Given the description of an element on the screen output the (x, y) to click on. 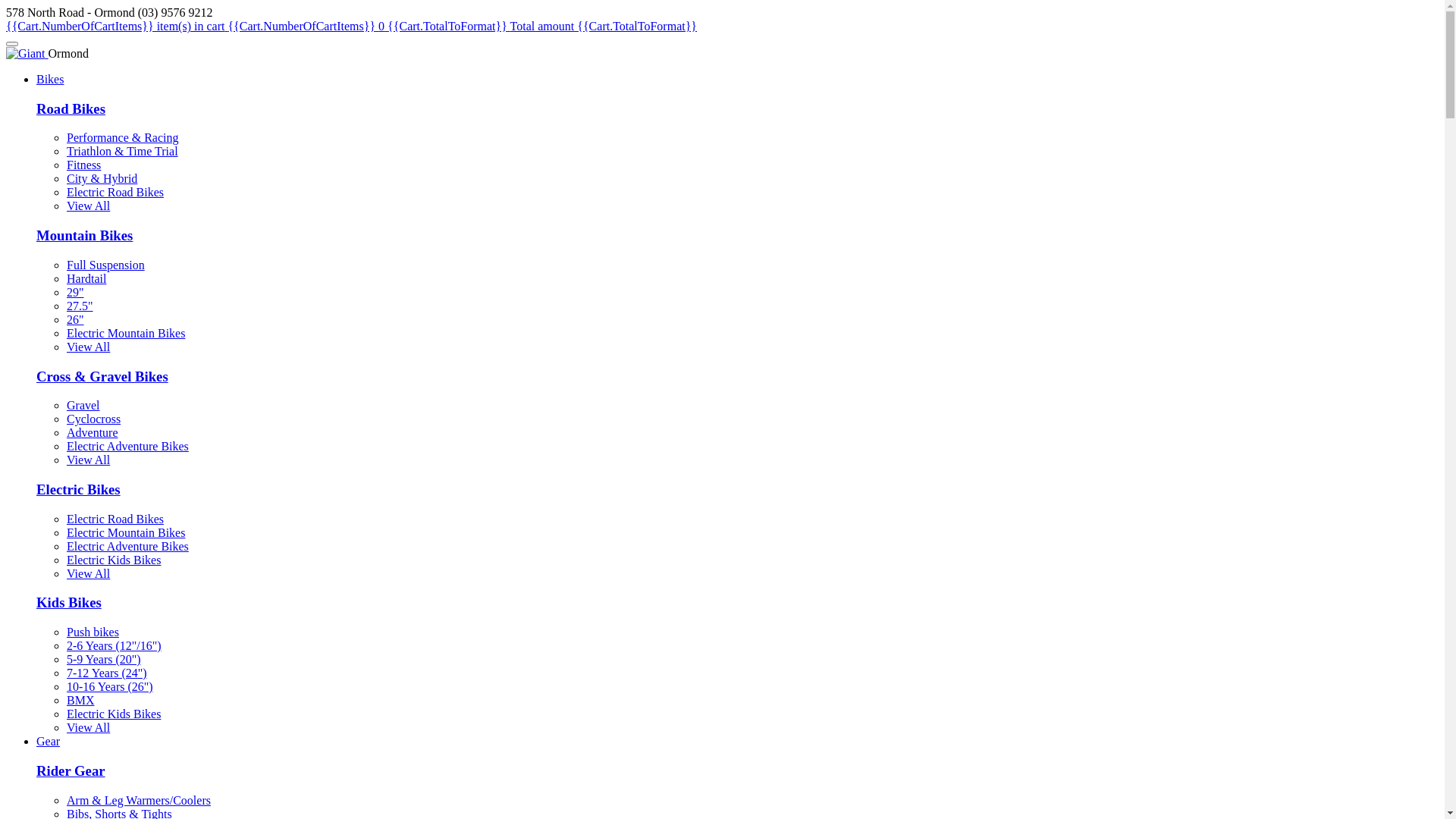
Gear Element type: text (47, 740)
Electric Adventure Bikes Element type: text (127, 545)
Electric Mountain Bikes Element type: text (125, 532)
Hardtail Element type: text (86, 278)
Full Suspension Element type: text (105, 264)
Fitness Element type: text (83, 164)
27.5" Element type: text (79, 305)
Cyclocross Element type: text (93, 418)
Electric Road Bikes Element type: text (114, 518)
Road Bikes Element type: text (70, 108)
2-6 Years (12"/16") Element type: text (113, 645)
Kids Bikes Element type: text (68, 602)
City & Hybrid Element type: text (101, 178)
5-9 Years (20") Element type: text (103, 658)
View All Element type: text (87, 573)
Electric Mountain Bikes Element type: text (125, 332)
7-12 Years (24") Element type: text (106, 672)
Gravel Element type: text (83, 404)
Performance & Racing Element type: text (122, 137)
Electric Kids Bikes Element type: text (113, 713)
Cross & Gravel Bikes Element type: text (102, 376)
Arm & Leg Warmers/Coolers Element type: text (138, 799)
26" Element type: text (75, 319)
Electric Adventure Bikes Element type: text (127, 445)
View All Element type: text (87, 459)
Bikes Element type: text (49, 78)
BMX Element type: text (80, 699)
Electric Bikes Element type: text (78, 489)
Rider Gear Element type: text (70, 770)
Electric Road Bikes Element type: text (114, 191)
10-16 Years (26") Element type: text (109, 686)
Mountain Bikes Element type: text (84, 235)
View All Element type: text (87, 205)
View All Element type: text (87, 727)
Electric Kids Bikes Element type: text (113, 559)
29" Element type: text (75, 291)
Push bikes Element type: text (92, 631)
View All Element type: text (87, 346)
Adventure Element type: text (92, 432)
Triathlon & Time Trial Element type: text (122, 150)
